Given the description of an element on the screen output the (x, y) to click on. 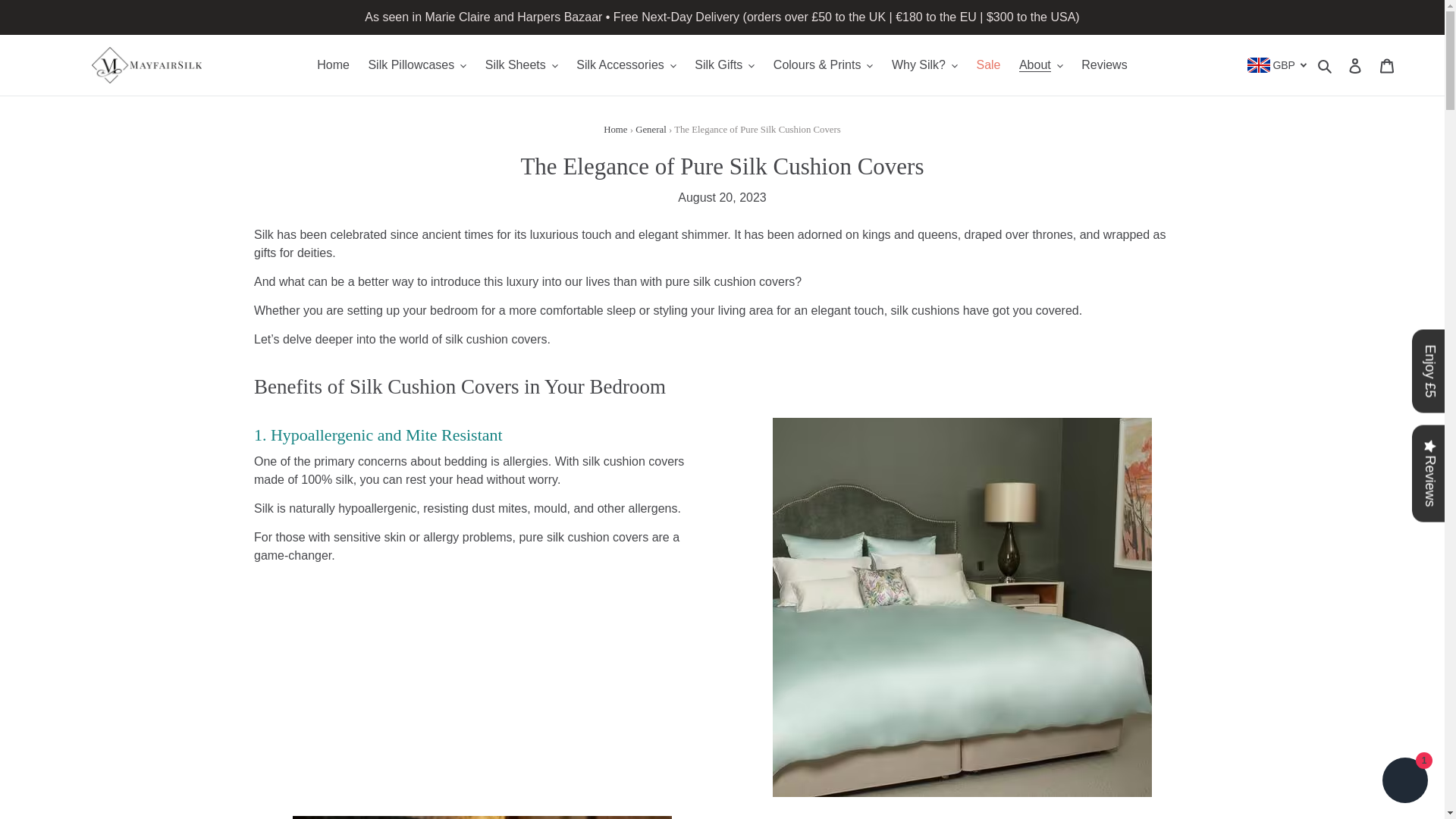
Silk Accessories (626, 65)
Shopify online store chat (1404, 781)
Home (332, 65)
Silk Pillowcases (416, 65)
Silk Gifts (724, 65)
Silk Sheets (521, 65)
Home (615, 129)
